Given the description of an element on the screen output the (x, y) to click on. 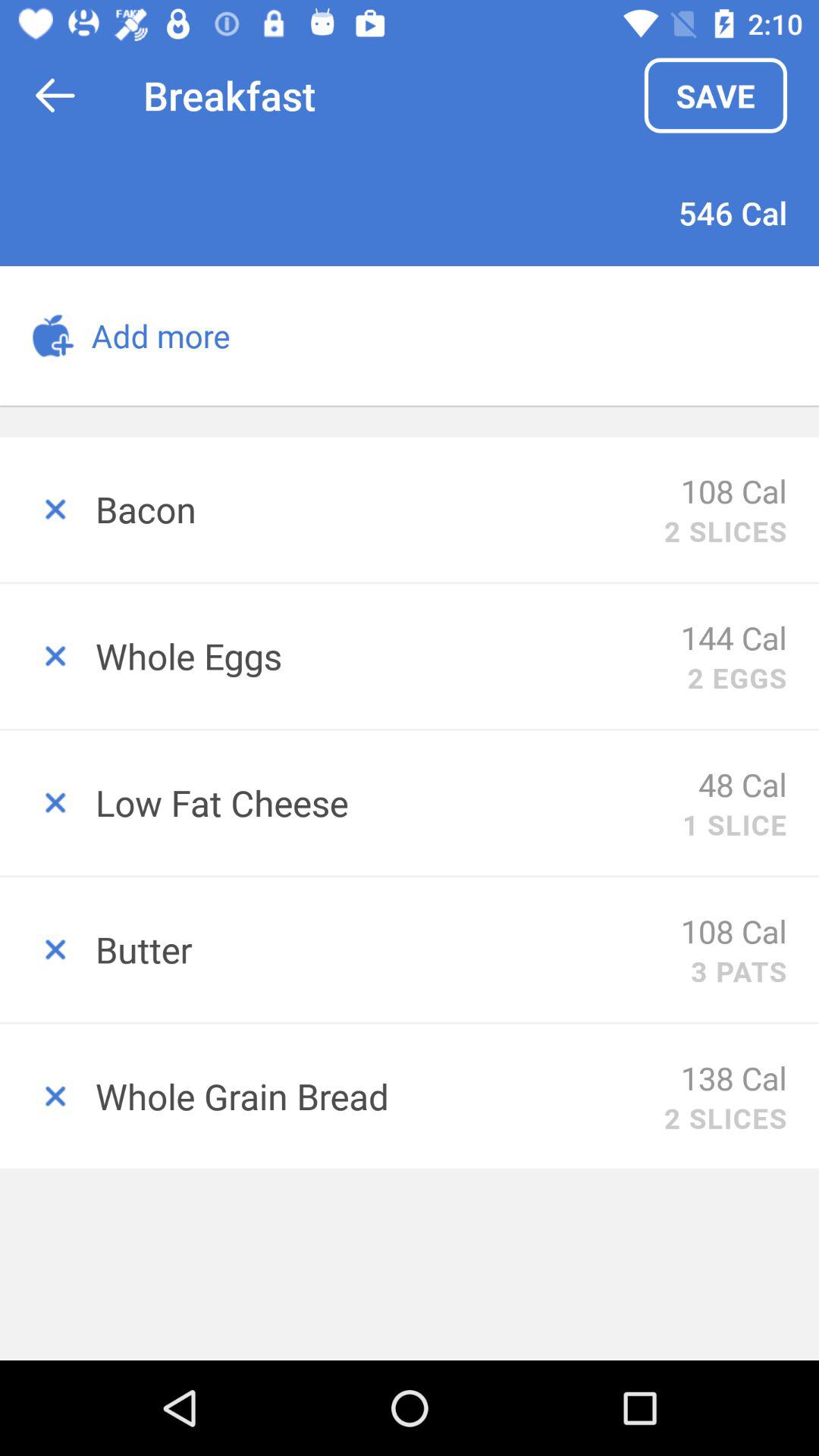
delete or remove button (47, 656)
